Given the description of an element on the screen output the (x, y) to click on. 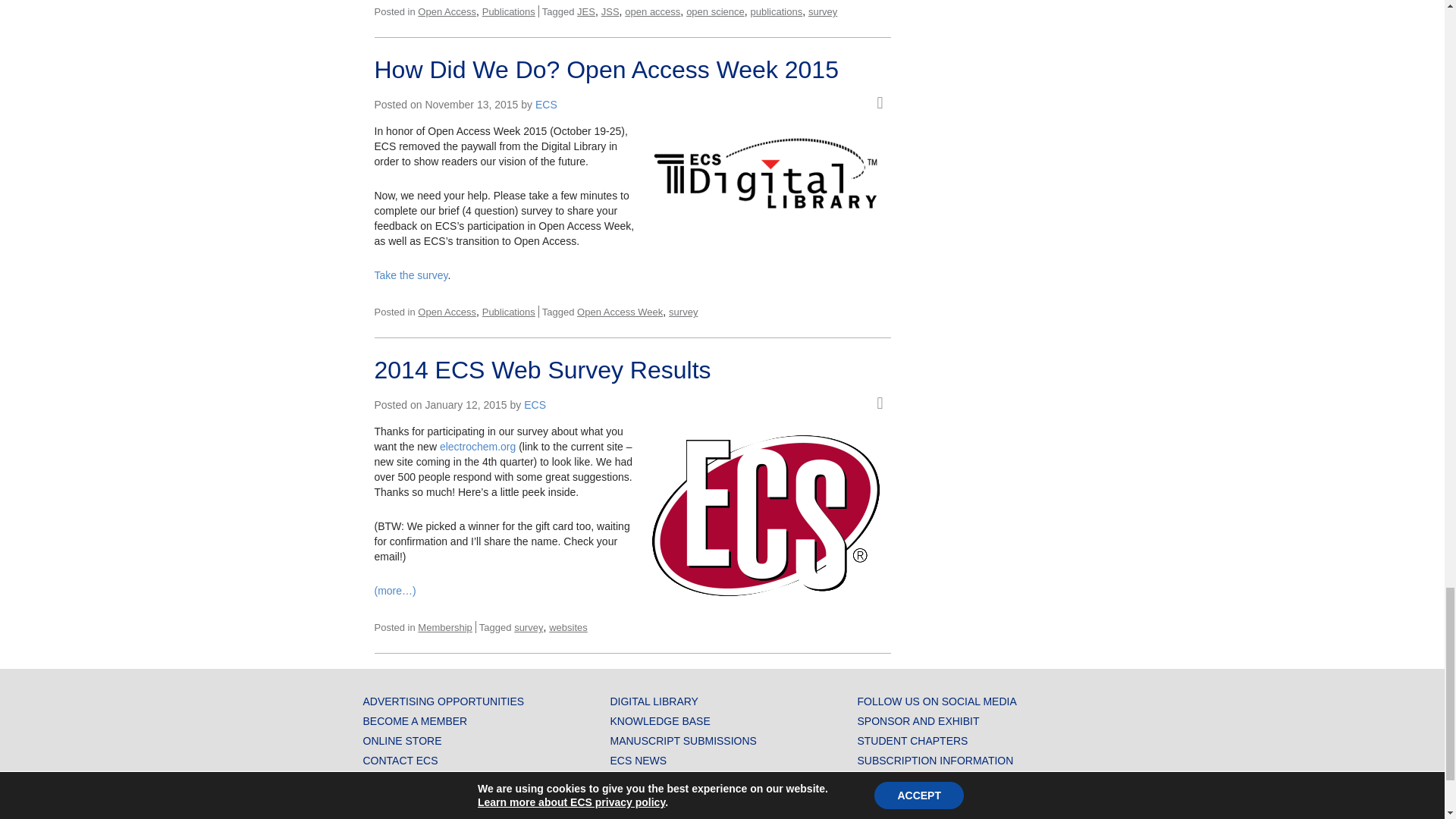
By ECS (535, 404)
By ECS (546, 104)
